Given the description of an element on the screen output the (x, y) to click on. 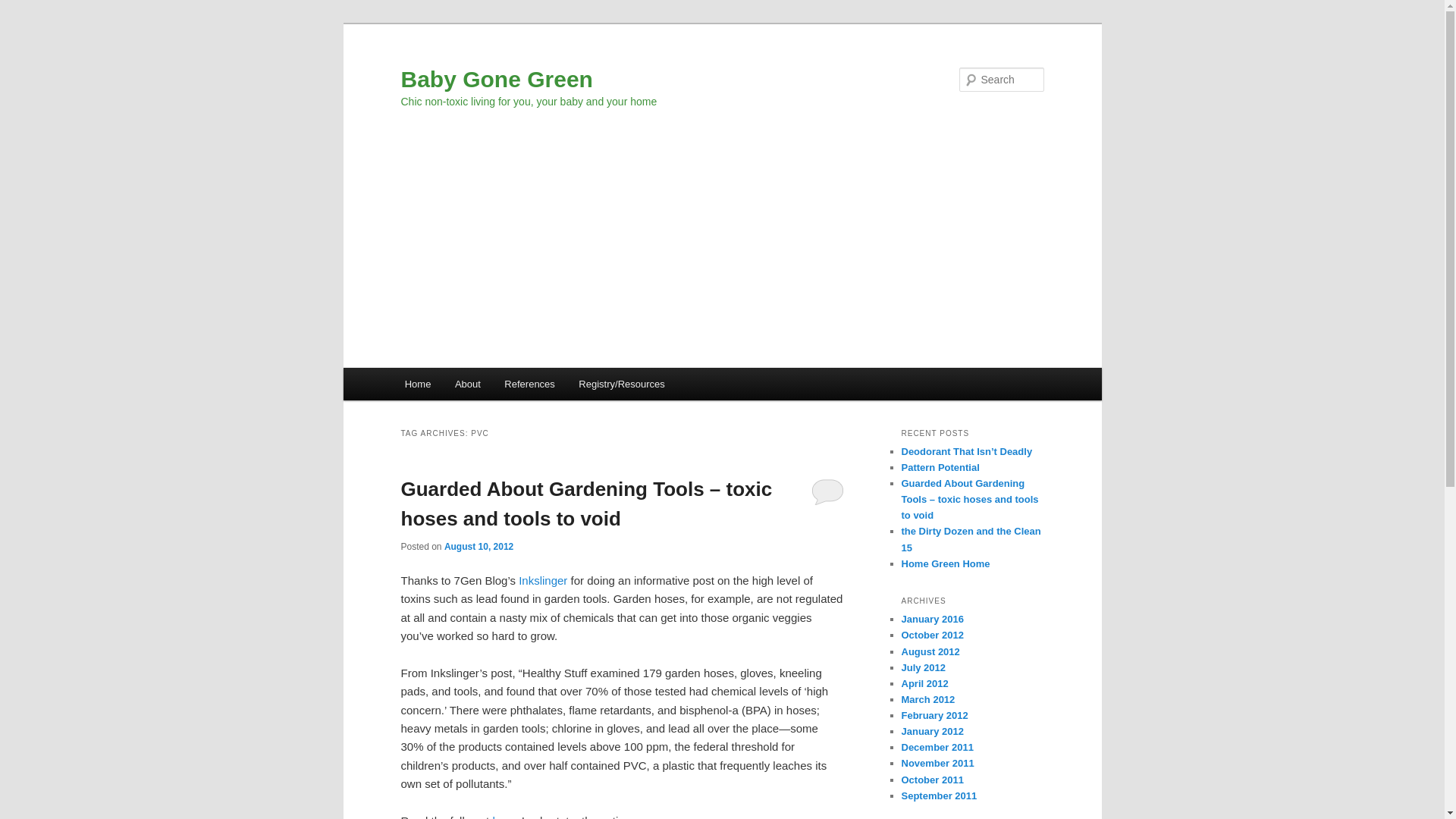
Skip to secondary content (479, 386)
January 2012 (931, 731)
Search (24, 8)
December 2011 (936, 747)
Skip to primary content (472, 386)
August 10, 2012 (478, 546)
6:16 pm (478, 546)
the Dirty Dozen and the Clean 15 (971, 538)
February 2012 (934, 715)
Inkslinger (541, 580)
Home Green Home (945, 563)
Home (417, 383)
7gen blog garden tools (541, 580)
Baby Gone Green (496, 78)
March 2012 (928, 699)
